Given the description of an element on the screen output the (x, y) to click on. 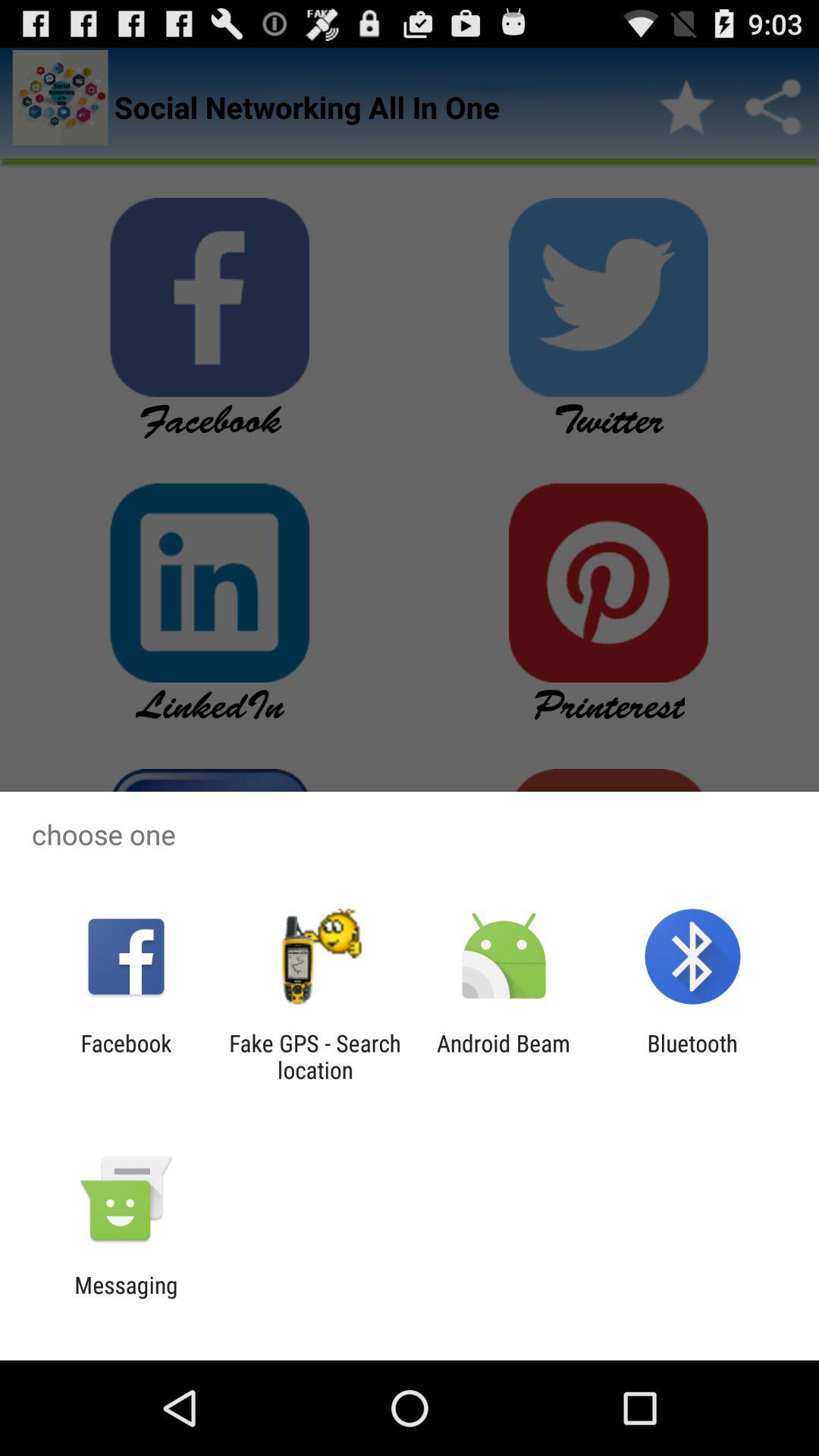
swipe to bluetooth (692, 1056)
